Given the description of an element on the screen output the (x, y) to click on. 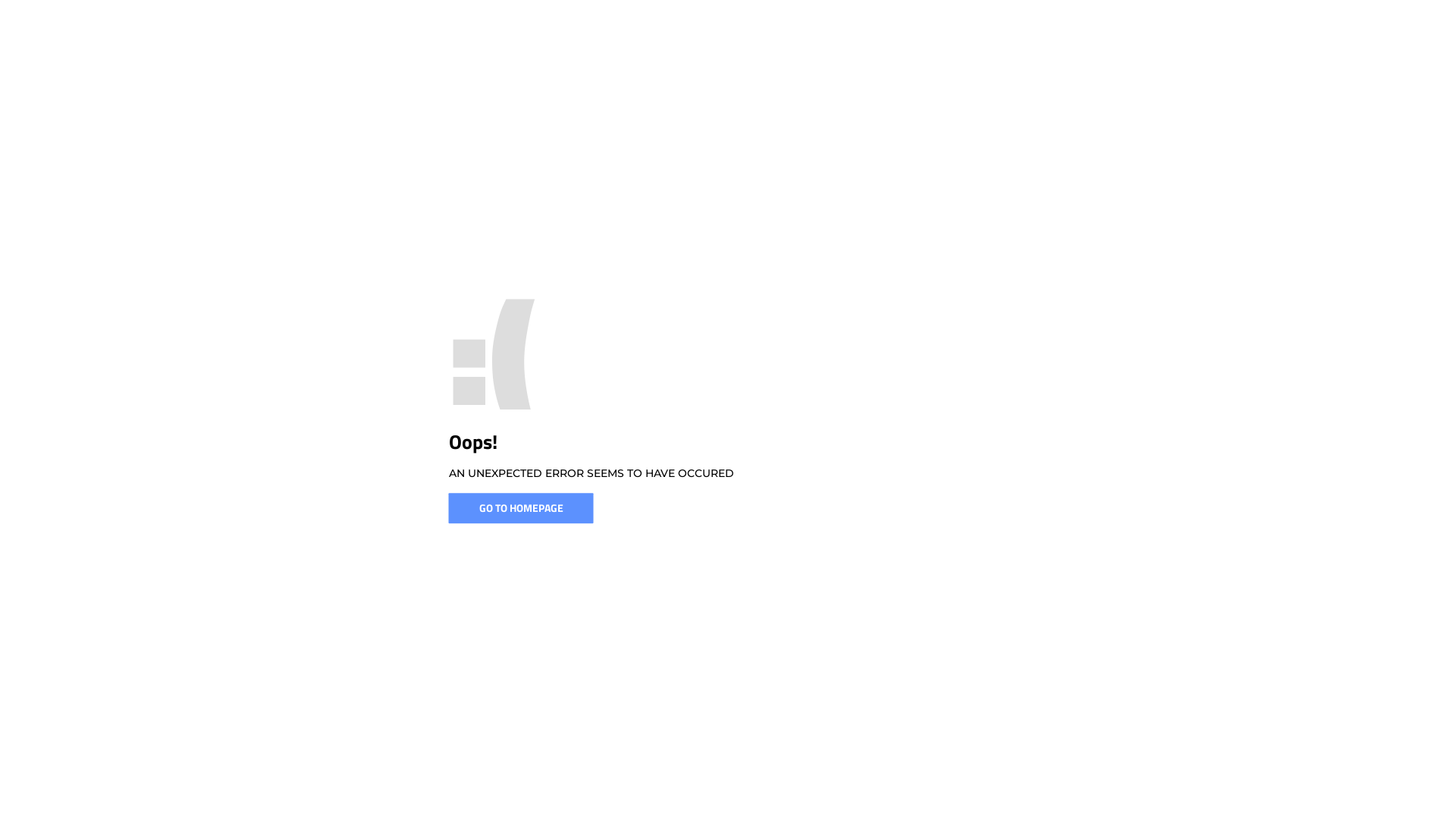
GO TO HOMEPAGE Element type: text (520, 507)
